Given the description of an element on the screen output the (x, y) to click on. 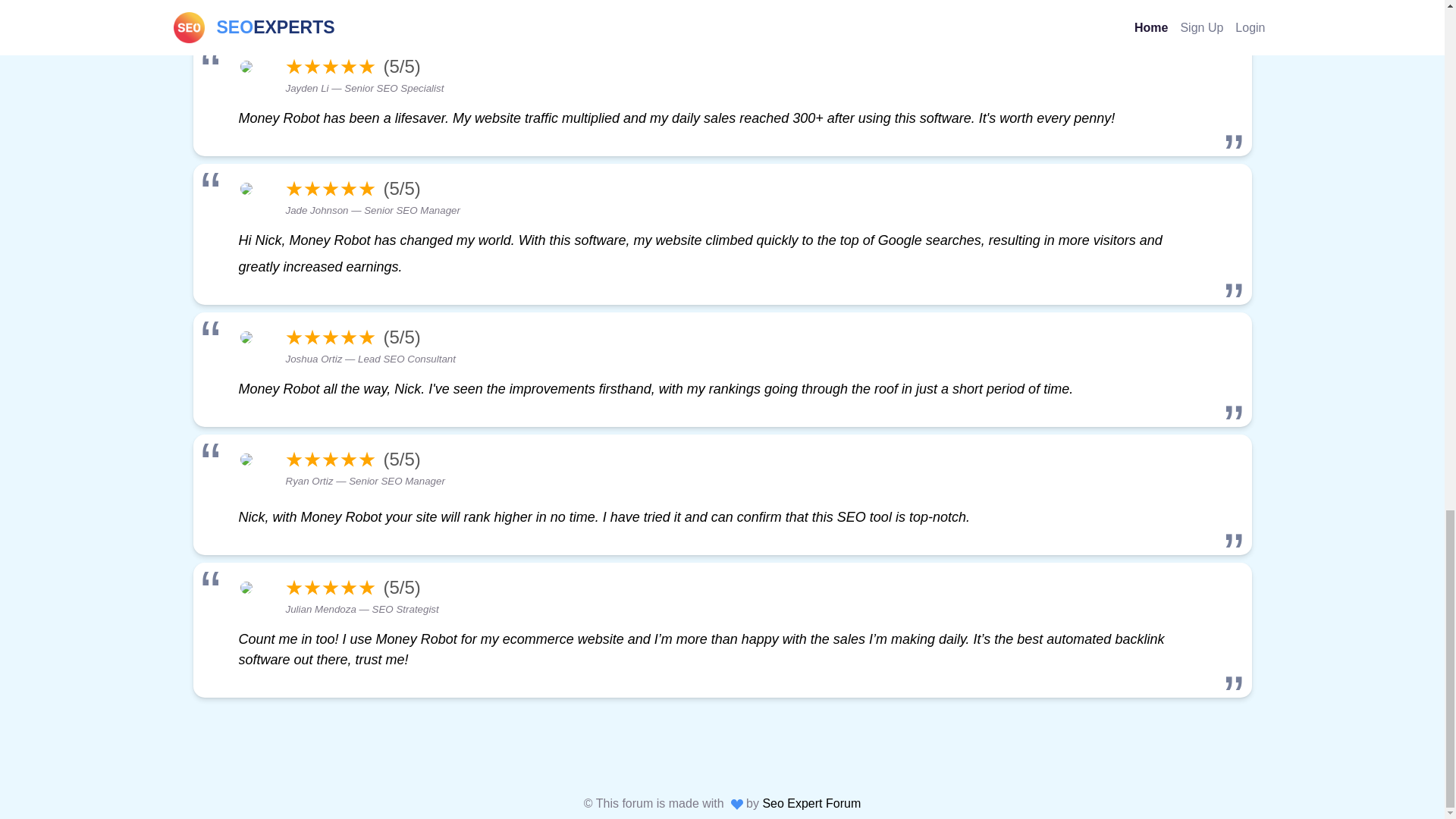
Seo Expert Forum (810, 802)
